Given the description of an element on the screen output the (x, y) to click on. 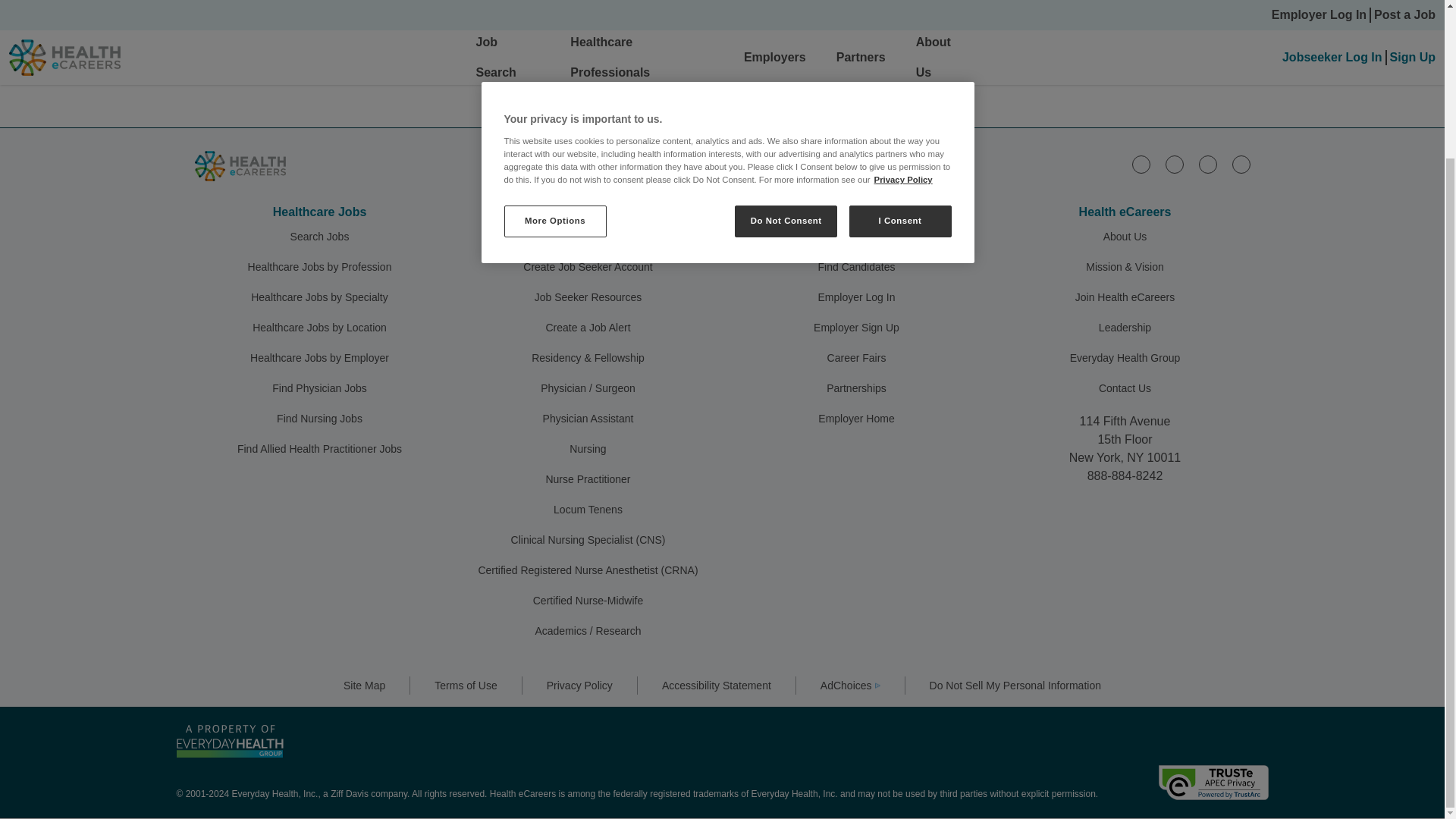
facebook (1173, 164)
twitter (1206, 164)
linkedin (1140, 164)
youtube (1240, 164)
